Given the description of an element on the screen output the (x, y) to click on. 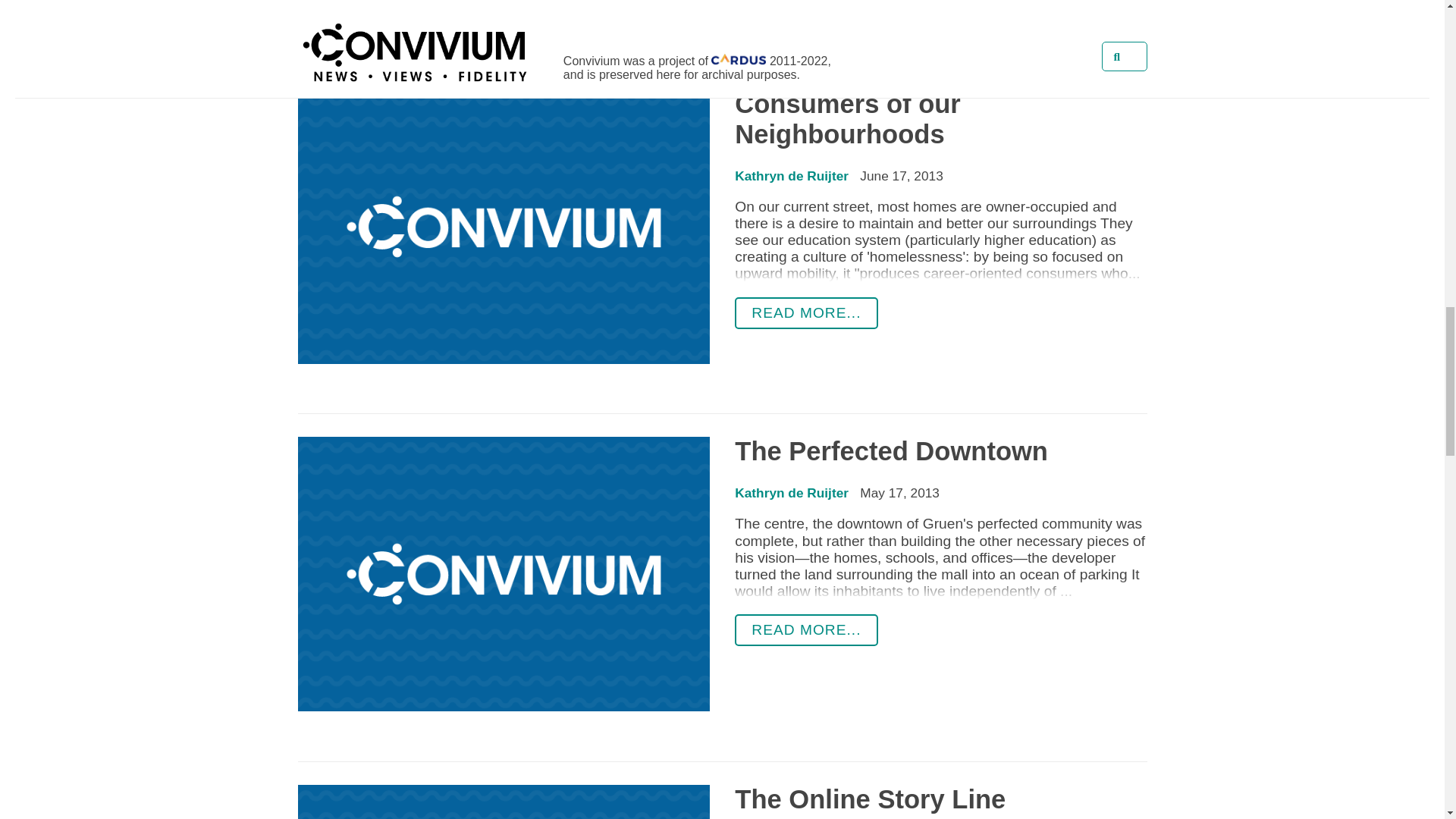
Kathryn de Ruijter (791, 492)
The Online Story Line (870, 799)
Kathryn de Ruijter (791, 175)
READ MORE... (806, 630)
The Perfected Downtown (891, 451)
Consumers of our Neighbourhoods (847, 118)
READ MORE... (806, 313)
